Given the description of an element on the screen output the (x, y) to click on. 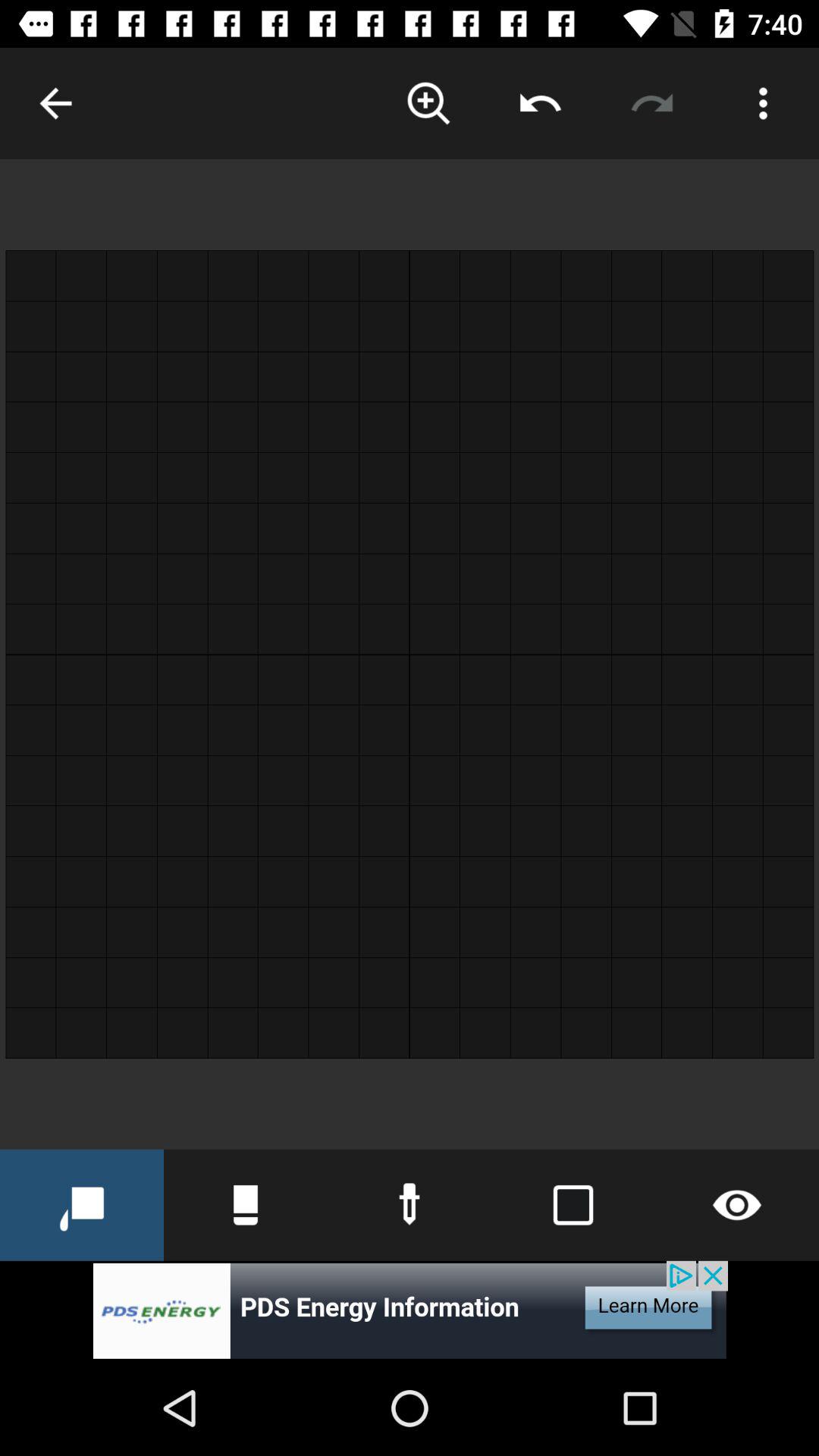
click to share option (540, 103)
